Given the description of an element on the screen output the (x, y) to click on. 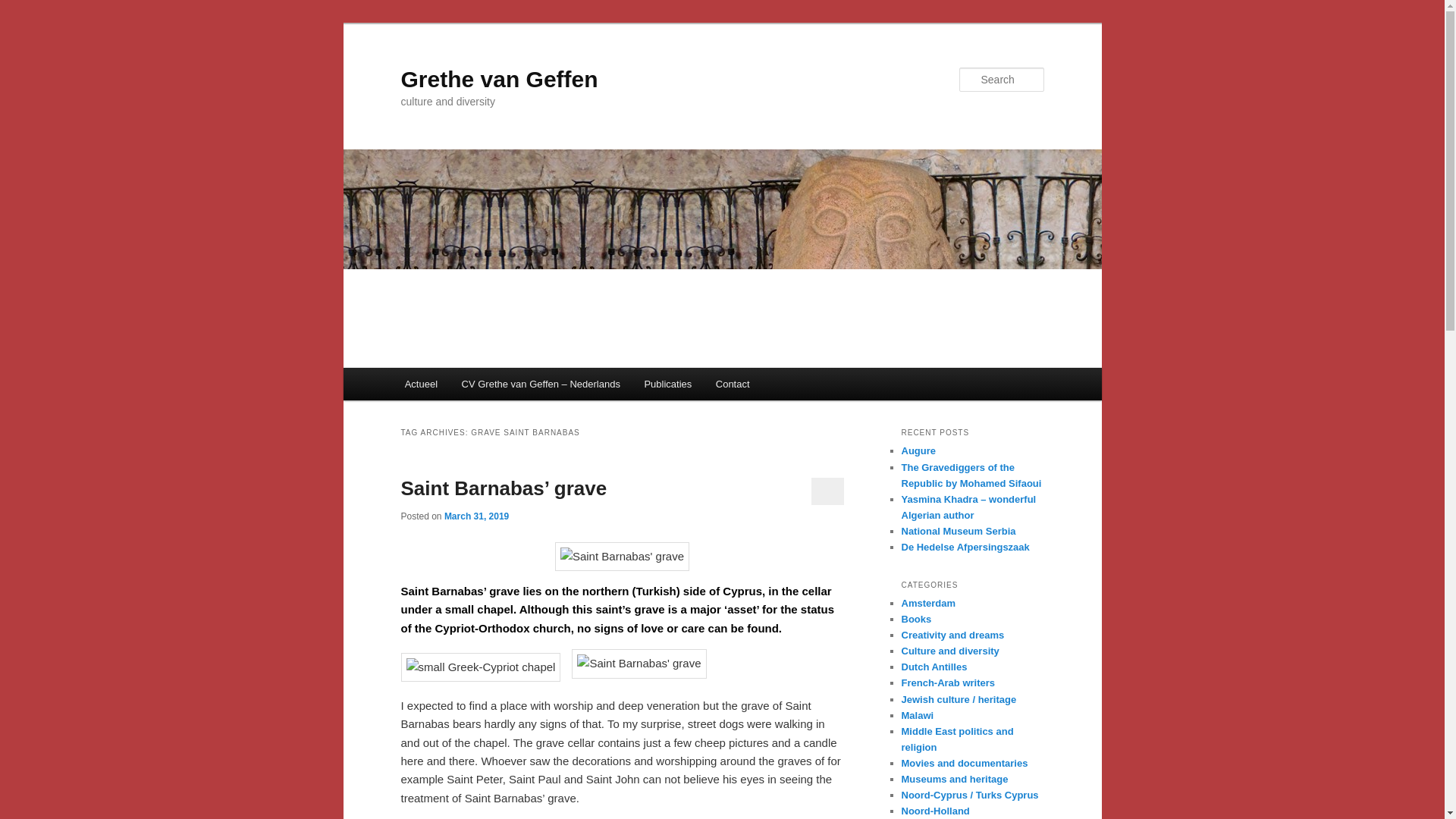
Contact (732, 383)
Augure (918, 450)
March 31, 2019 (476, 516)
Search (24, 8)
Actueel (421, 383)
The Gravediggers of the Republic by Mohamed Sifaoui (971, 474)
Publicaties (667, 383)
9:34 PM (476, 516)
Grethe van Geffen (498, 78)
